Given the description of an element on the screen output the (x, y) to click on. 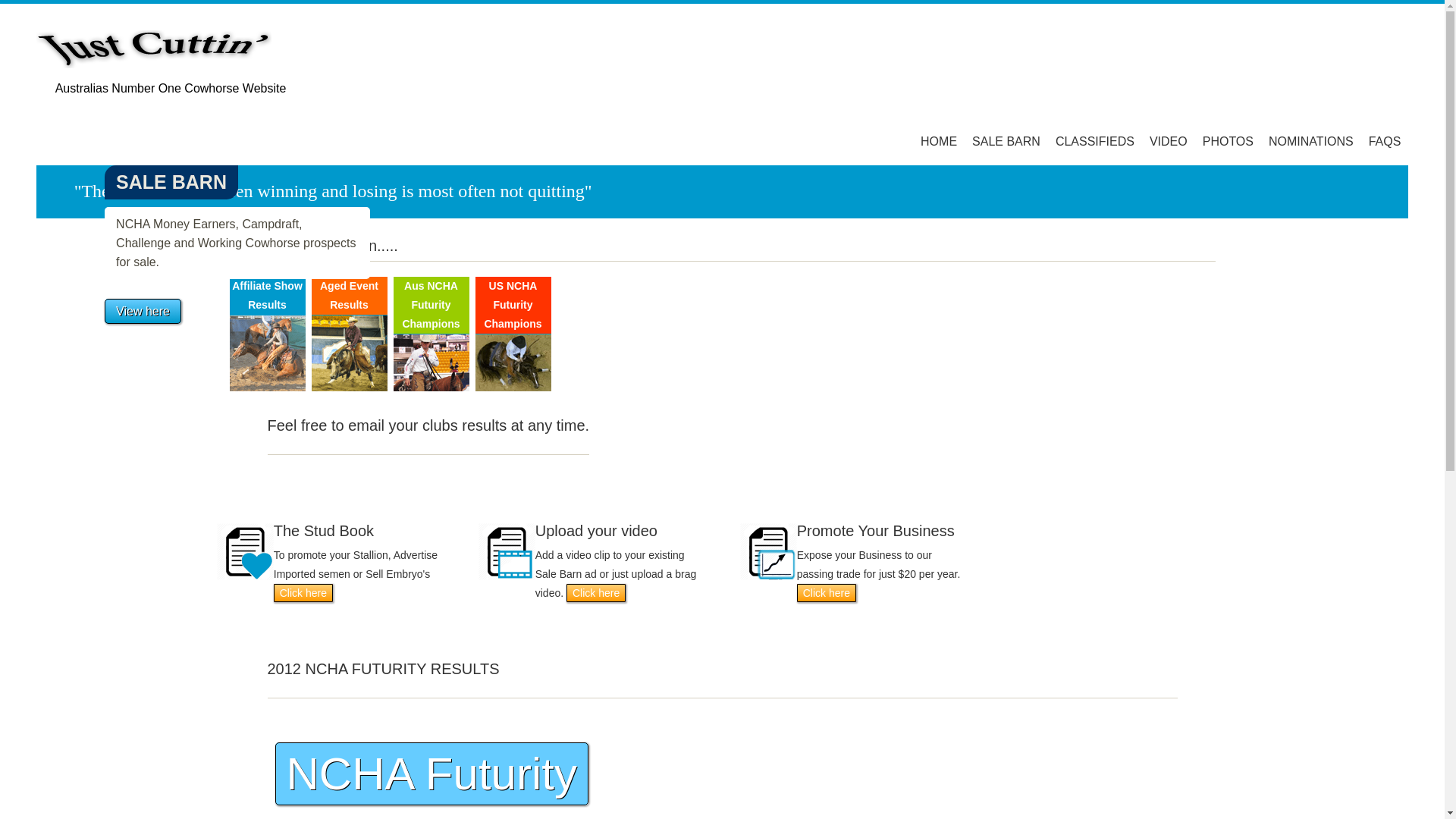
NOMINATIONS Element type: text (1310, 140)
HOME Element type: text (938, 140)
Affiliate Show Results Element type: text (266, 295)
VIDEO Element type: text (1168, 140)
CLASSIFIEDS Element type: text (1094, 140)
US NCHA Futurity Champions Element type: text (512, 304)
Click here Element type: text (826, 592)
PHOTOS Element type: text (1227, 140)
NCHA Futurity Element type: text (430, 773)
FAQS Element type: text (1384, 140)
Aus NCHA Futurity Champions Element type: text (430, 304)
SALE BARN Element type: text (1006, 140)
Aged Event Results Element type: text (348, 295)
View here Element type: text (142, 310)
Click here Element type: text (302, 592)
Click here Element type: text (595, 592)
